Given the description of an element on the screen output the (x, y) to click on. 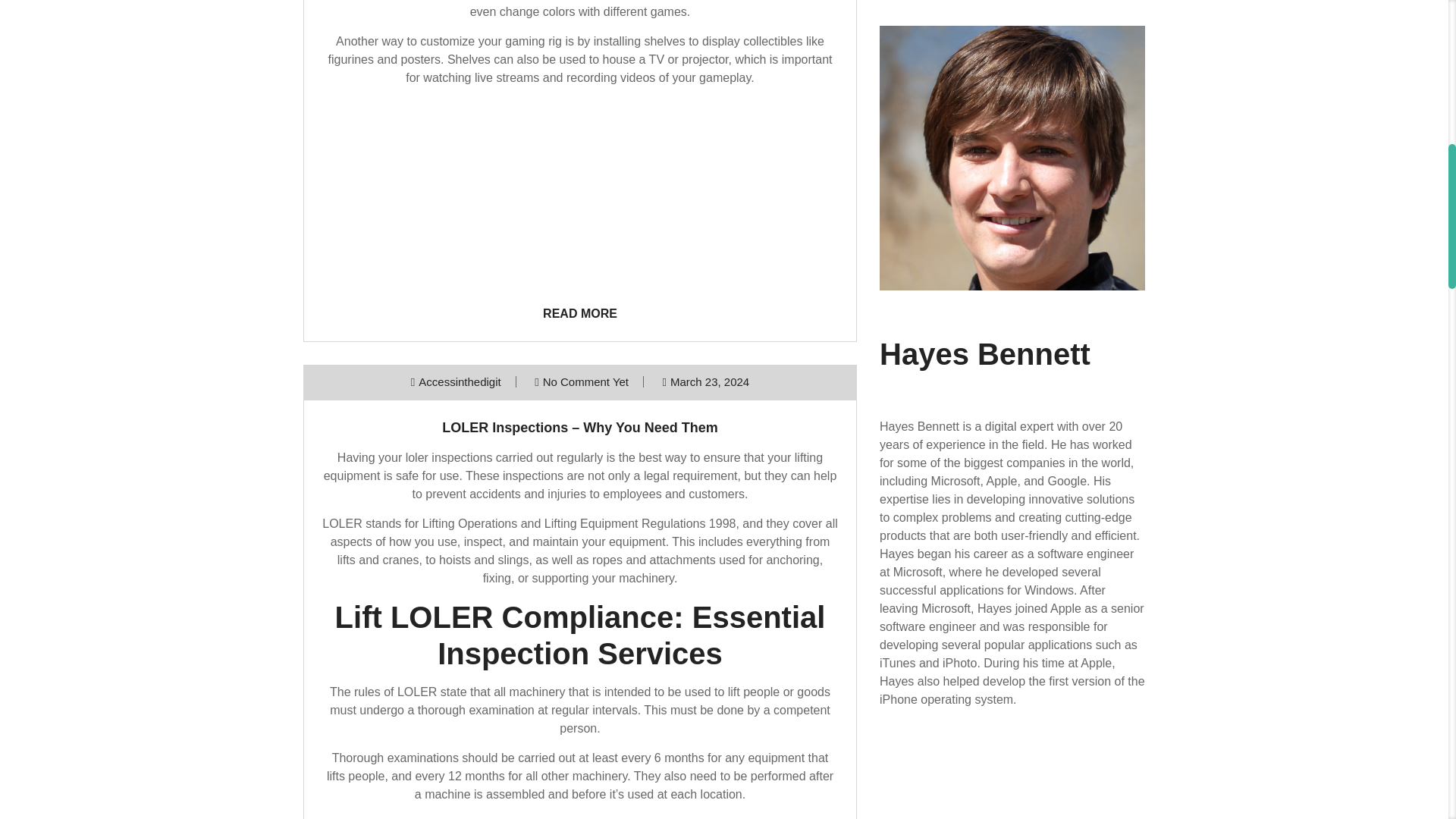
loler inspections (449, 457)
rules of LOLER (483, 818)
March 23, 2024 (709, 381)
READ MORE (580, 313)
No Comment Yet (585, 381)
Accessinthedigit (459, 381)
mood and can even change colors with different games (649, 9)
